Given the description of an element on the screen output the (x, y) to click on. 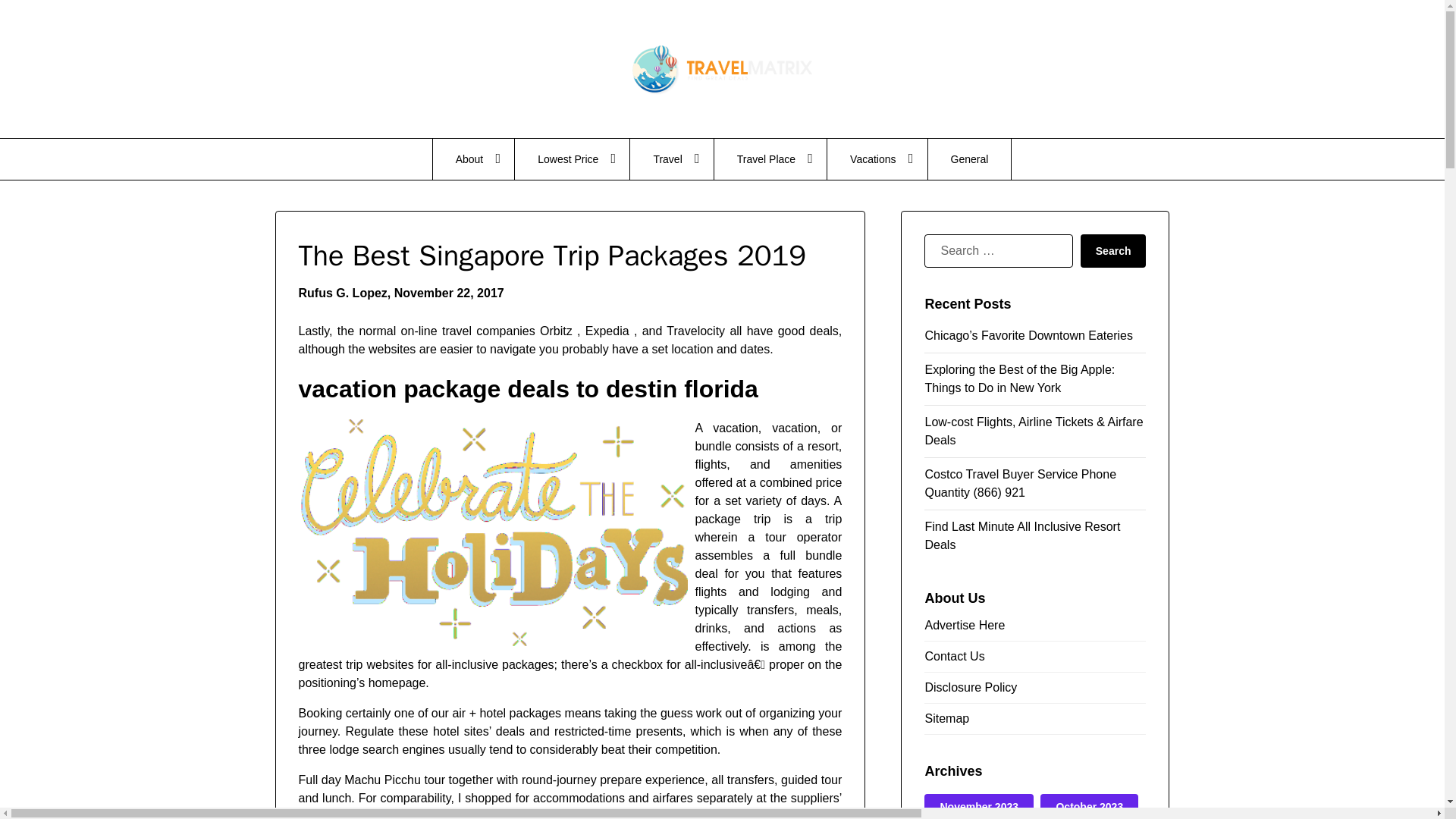
General (969, 158)
Lowest Price (571, 158)
Search (1113, 250)
Vacations (876, 158)
About (473, 158)
Travel (671, 158)
Travel Place (770, 158)
November 22, 2017 (448, 292)
Search (1113, 250)
